Given the description of an element on the screen output the (x, y) to click on. 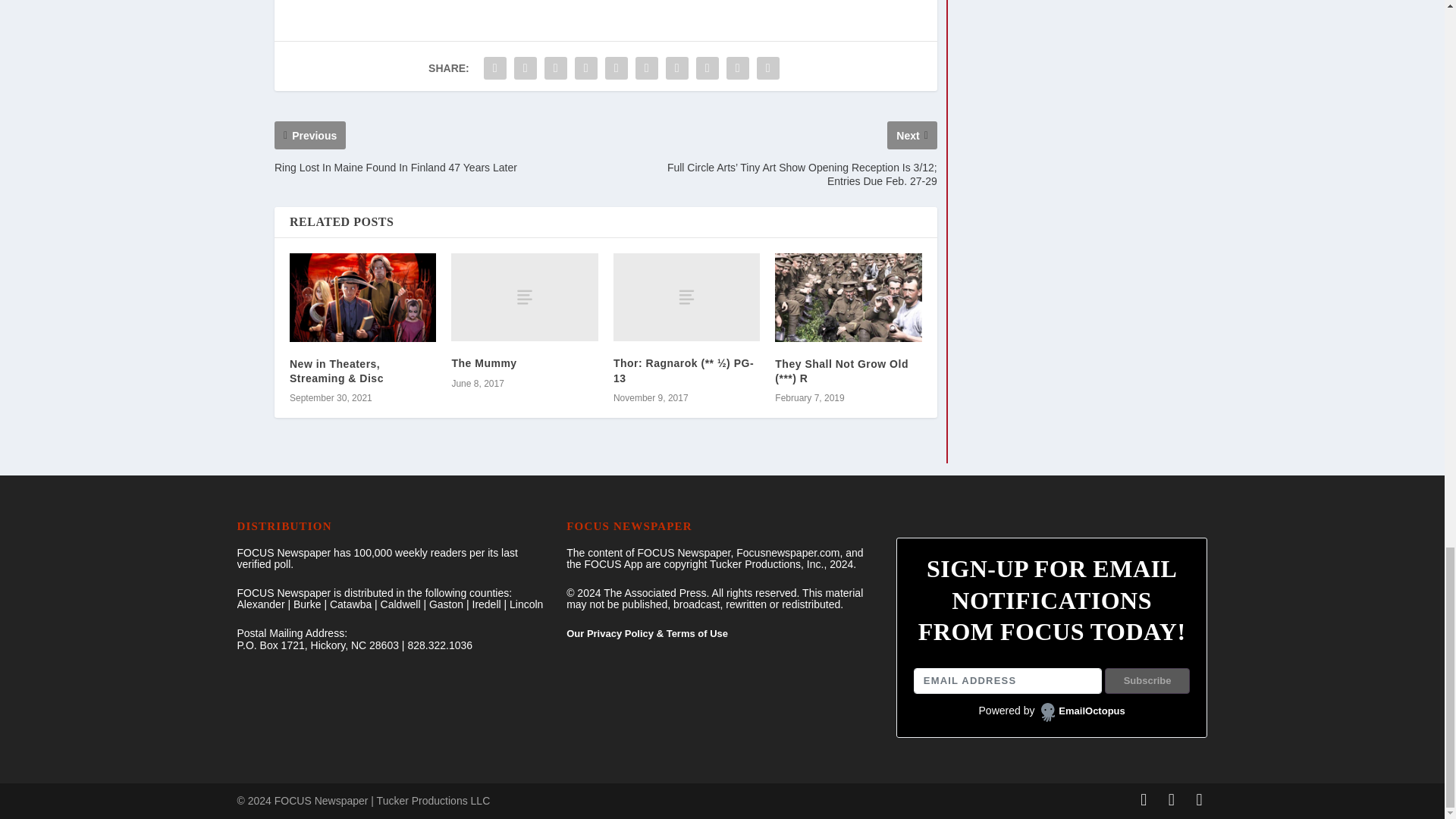
The Mummy (523, 297)
Subscribe (1148, 680)
